Given the description of an element on the screen output the (x, y) to click on. 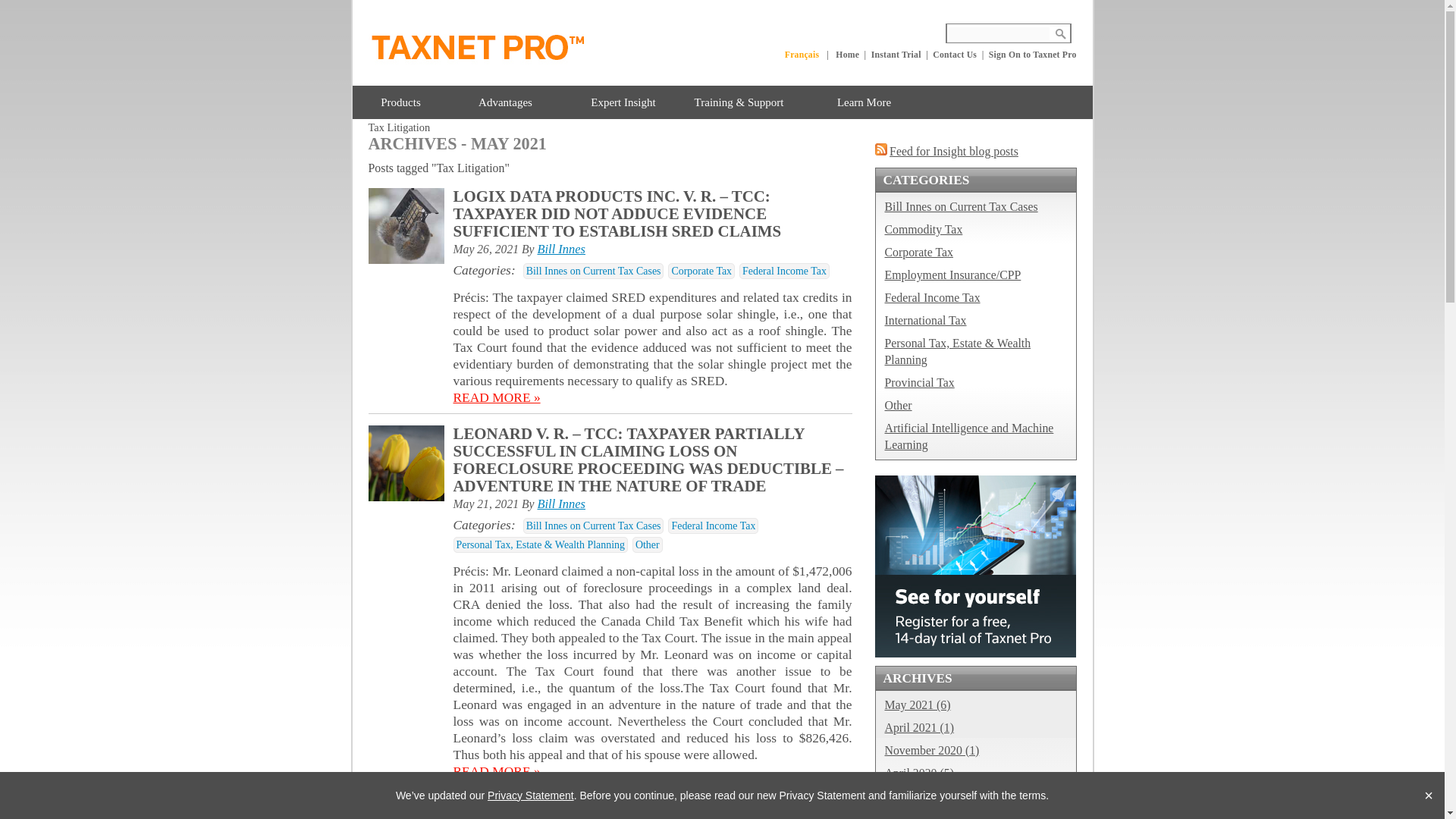
see more posts from Bill Innes (561, 248)
Expert Insight (622, 101)
Products (400, 101)
Learn More (864, 101)
Bill Innes (561, 248)
Contact Us (954, 54)
see more posts from Bill Innes (561, 503)
Instant Trial (895, 54)
see more posts for category - Federal Income Tax (784, 270)
see more posts for category - Other (646, 544)
Home (847, 54)
see more posts for category - Corporate Tax (701, 270)
